Given the description of an element on the screen output the (x, y) to click on. 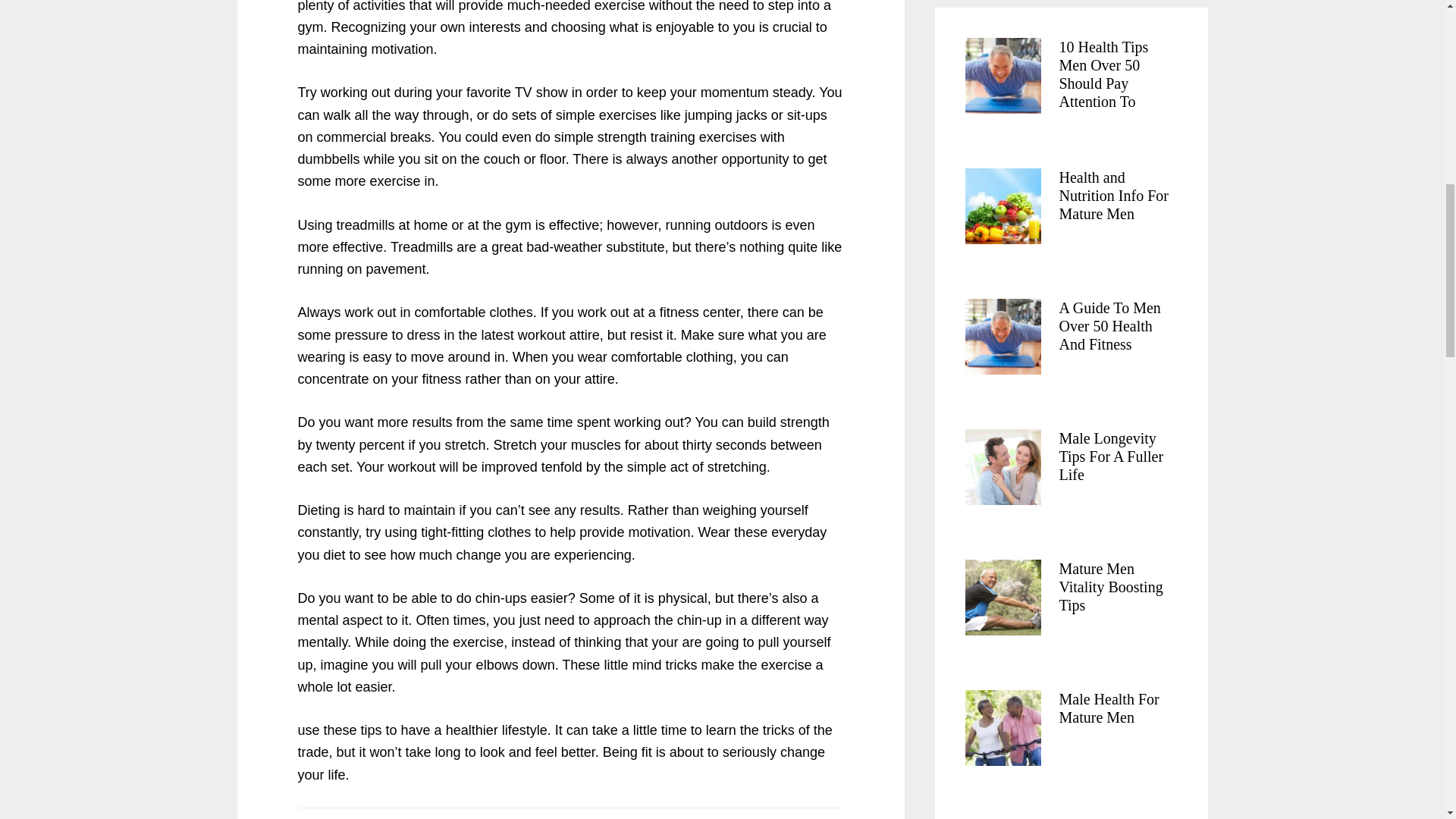
Mature Men Vitality Boosting Tips (1109, 586)
Male Health For Mature Men (1108, 708)
Health and Nutrition Info For Mature Men (1112, 194)
10 Health Tips Men Over 50 Should Pay Attention To (1103, 73)
Male Longevity Tips For A Fuller Life (1110, 456)
A Guide To Men Over 50 Health And Fitness (1109, 325)
